Given the description of an element on the screen output the (x, y) to click on. 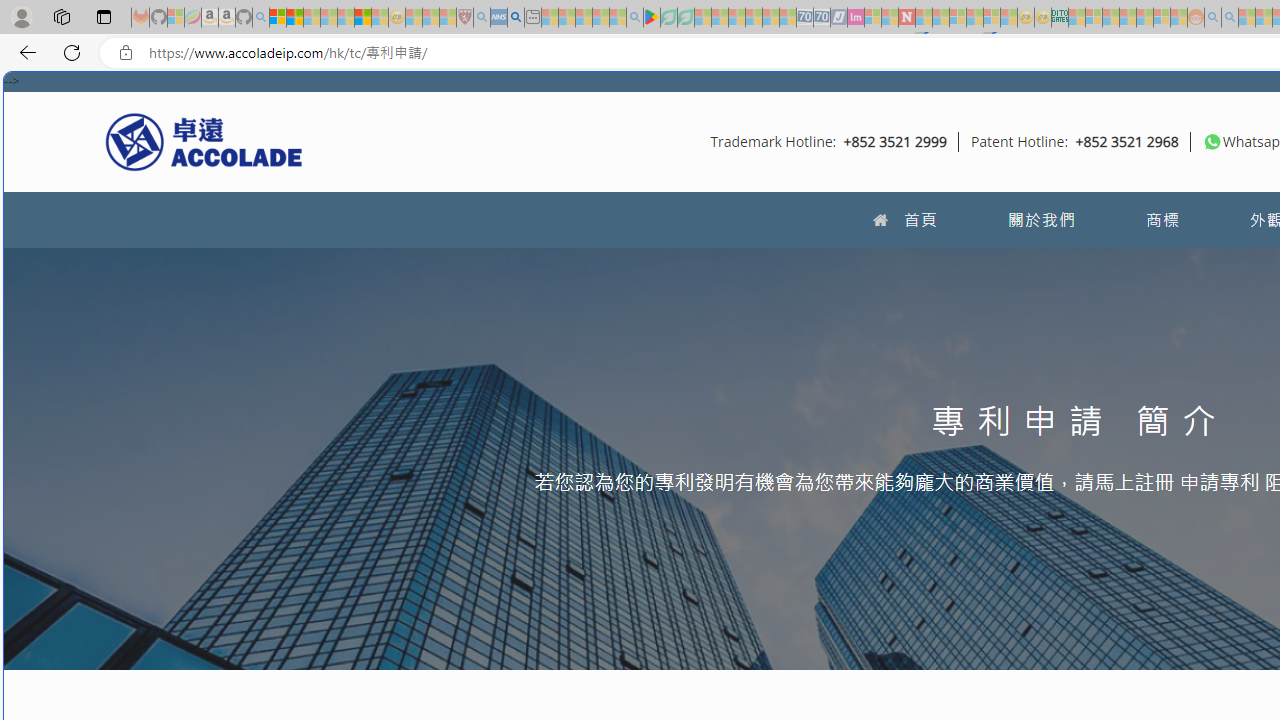
DITOGAMES AG Imprint (1059, 17)
Accolade IP HK Logo (203, 141)
Latest Politics News & Archive | Newsweek.com - Sleeping (906, 17)
Cheap Car Rentals - Save70.com - Sleeping (804, 17)
Kinda Frugal - MSN - Sleeping (1144, 17)
New tab - Sleeping (532, 17)
